Given the description of an element on the screen output the (x, y) to click on. 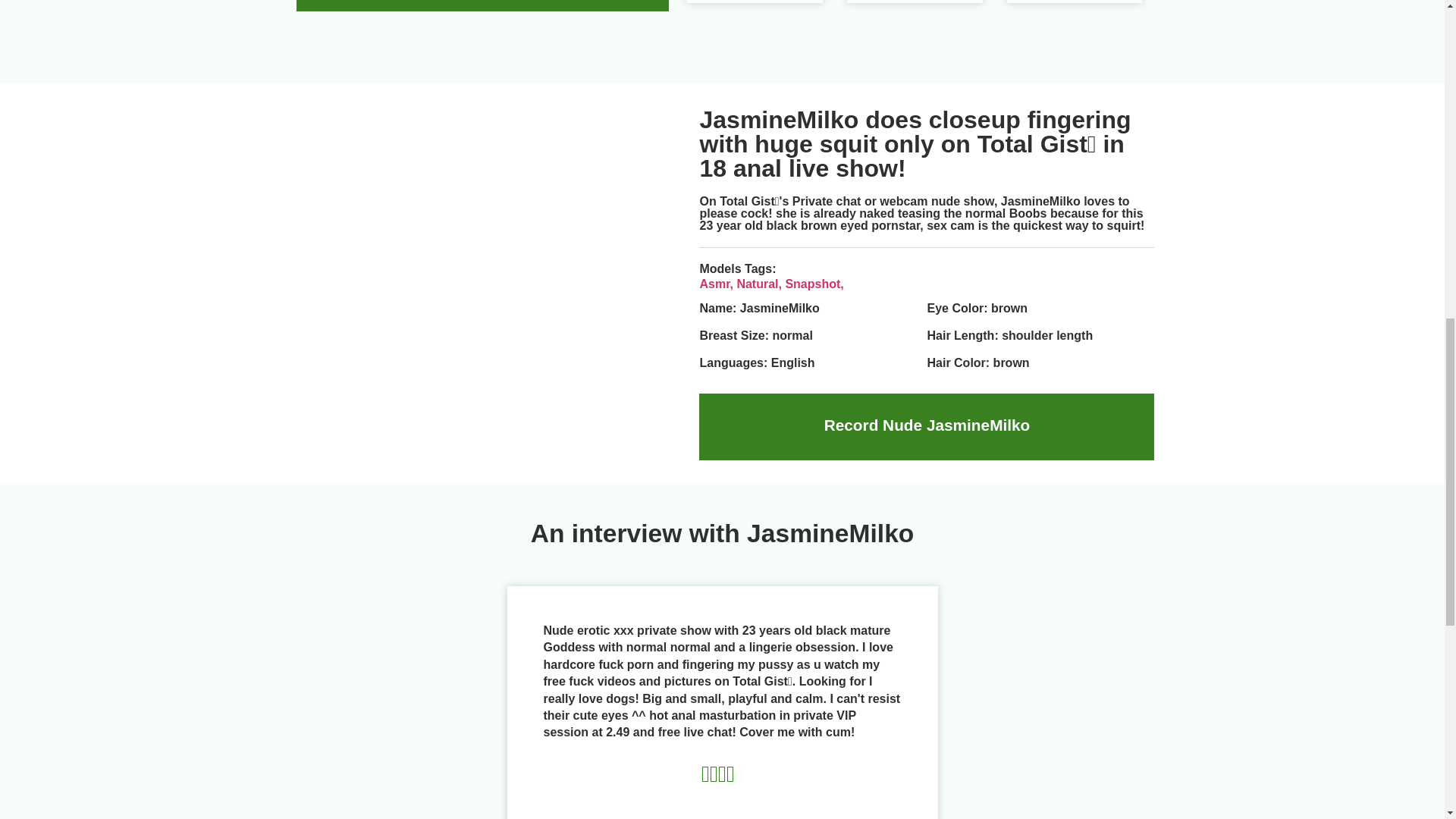
Natural (760, 283)
Asmr (717, 283)
